Given the description of an element on the screen output the (x, y) to click on. 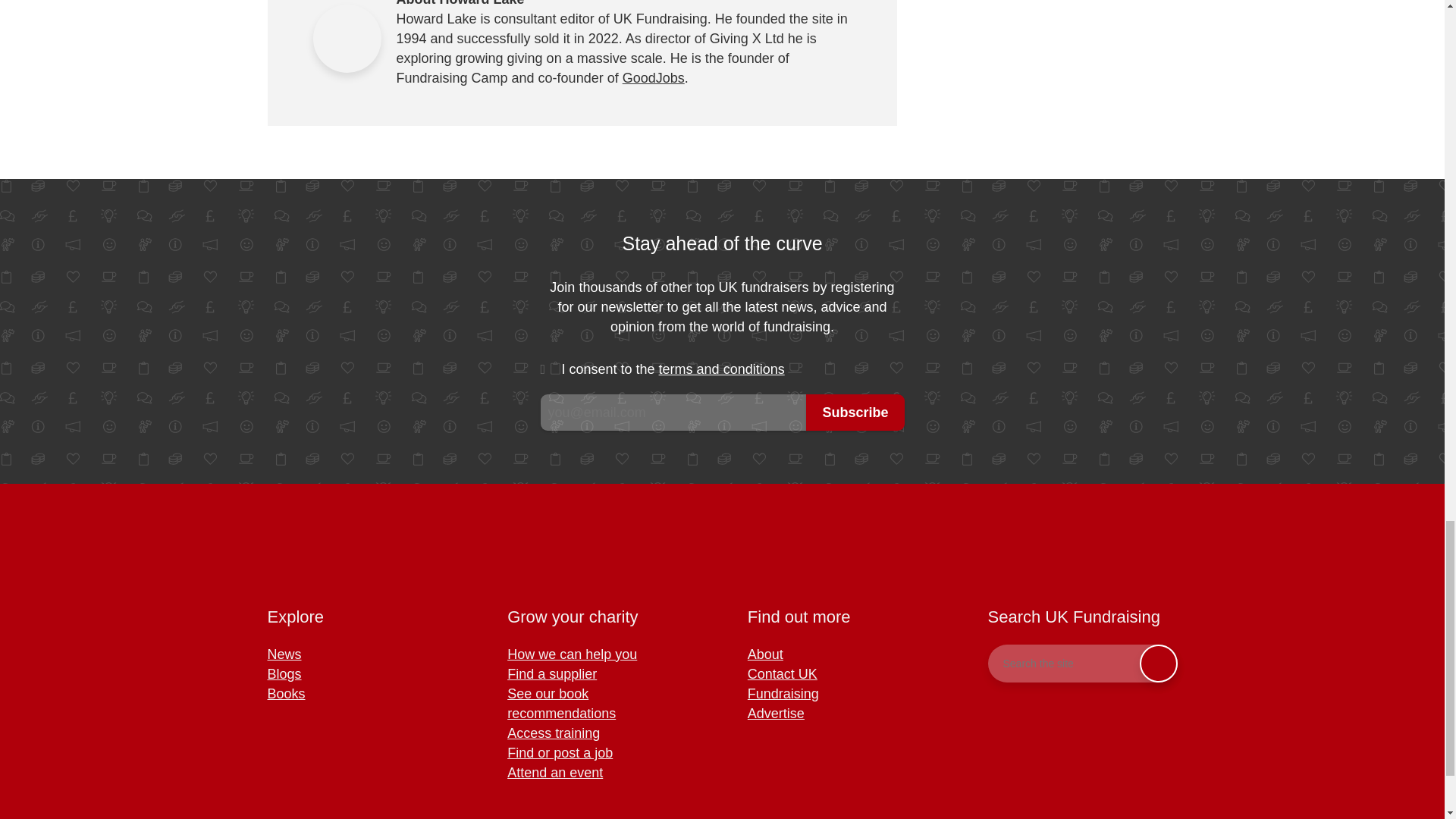
Subscribe (855, 411)
on (551, 369)
